Given the description of an element on the screen output the (x, y) to click on. 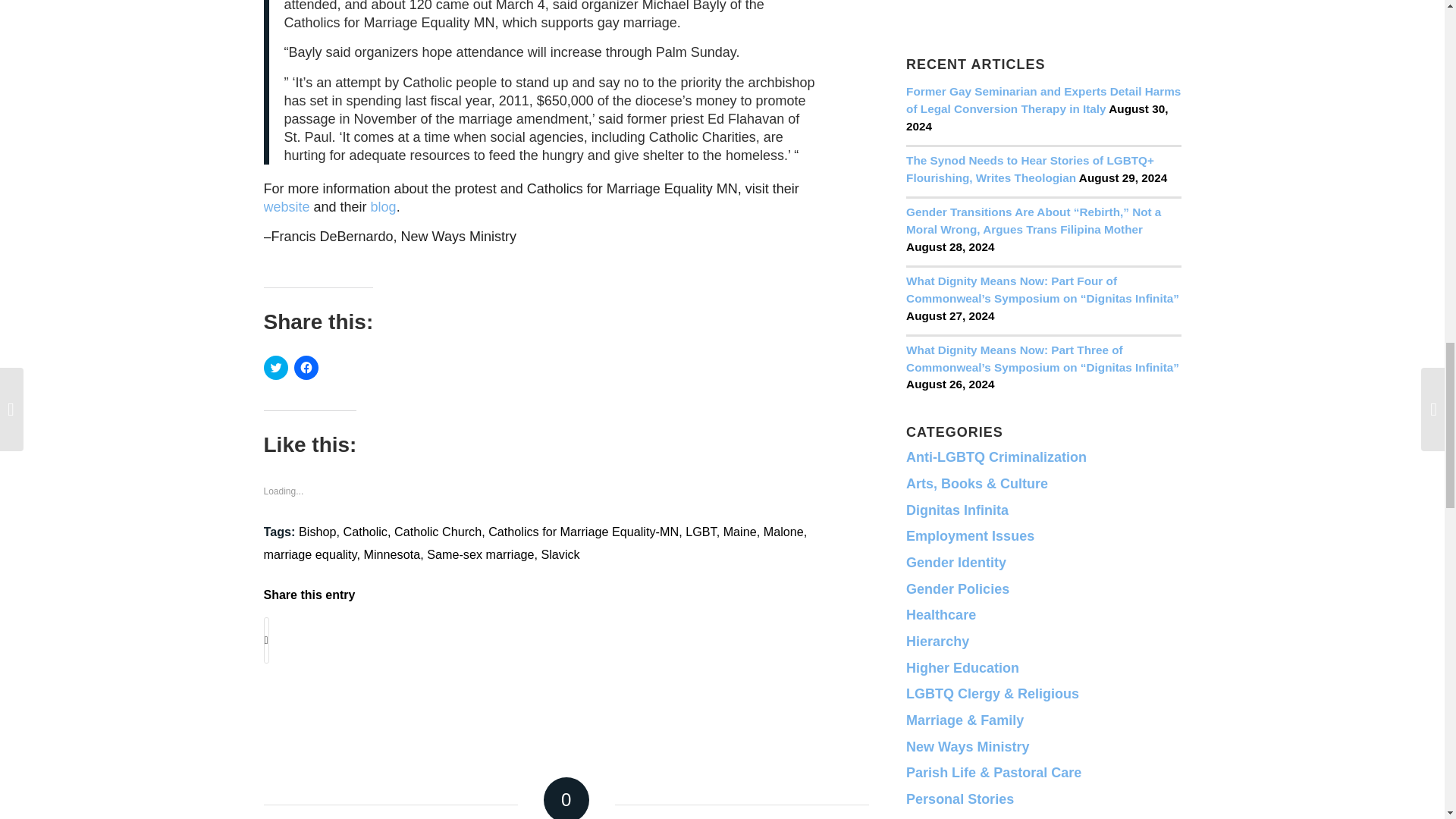
Catholic (364, 531)
Bishop (317, 531)
Catholic Church (437, 531)
blog (383, 206)
website (286, 206)
